Given the description of an element on the screen output the (x, y) to click on. 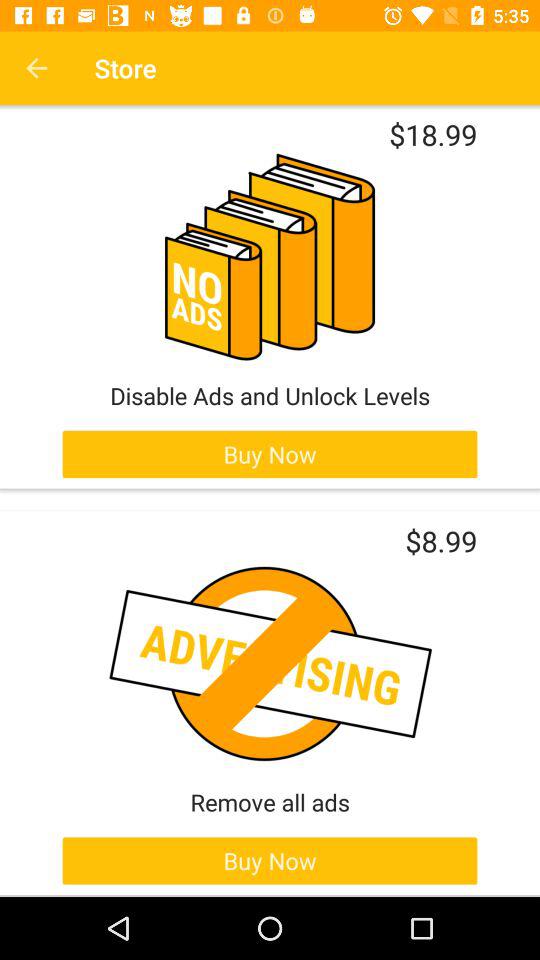
launch the icon next to the store icon (36, 68)
